Given the description of an element on the screen output the (x, y) to click on. 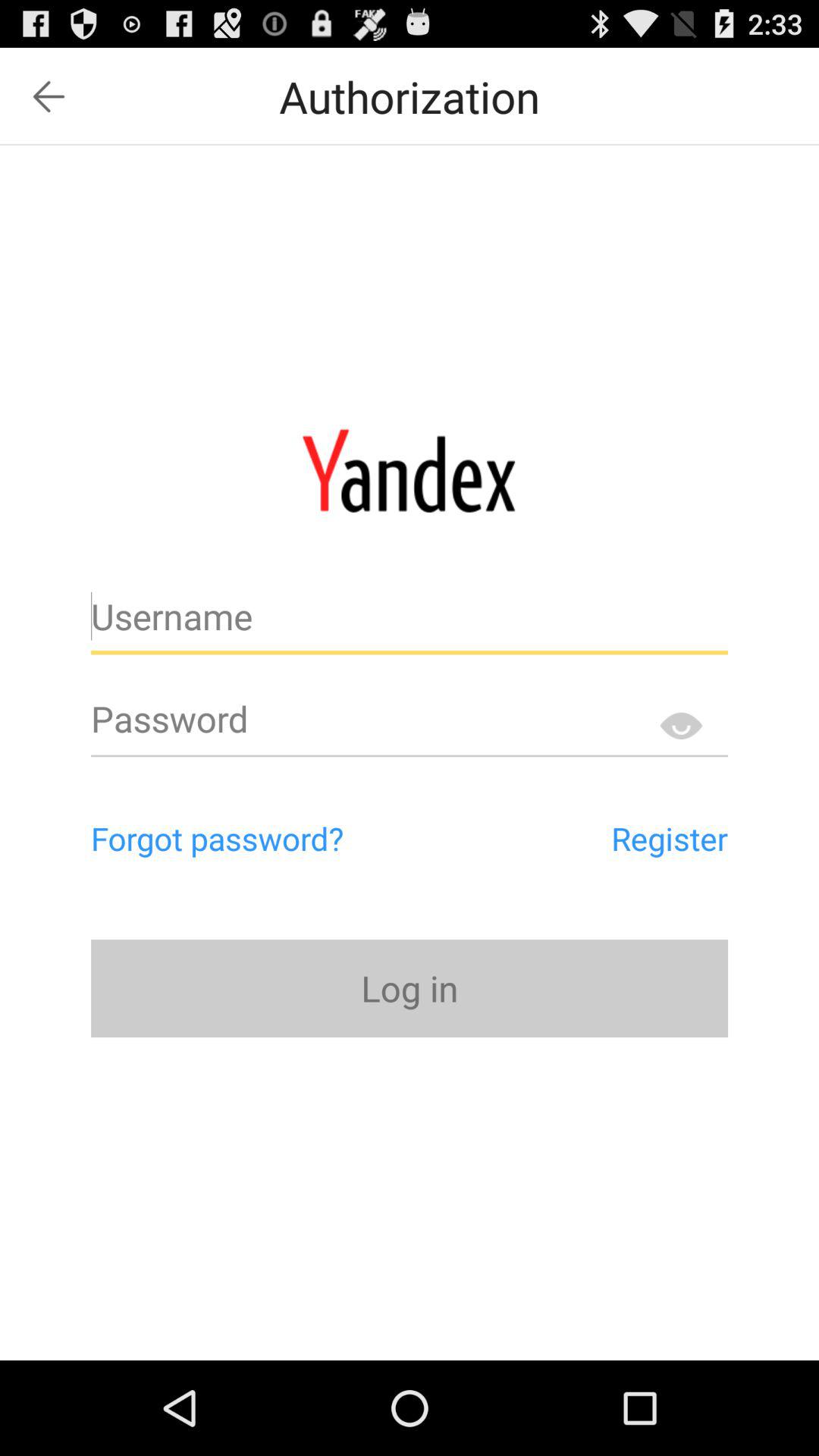
show password (680, 725)
